Given the description of an element on the screen output the (x, y) to click on. 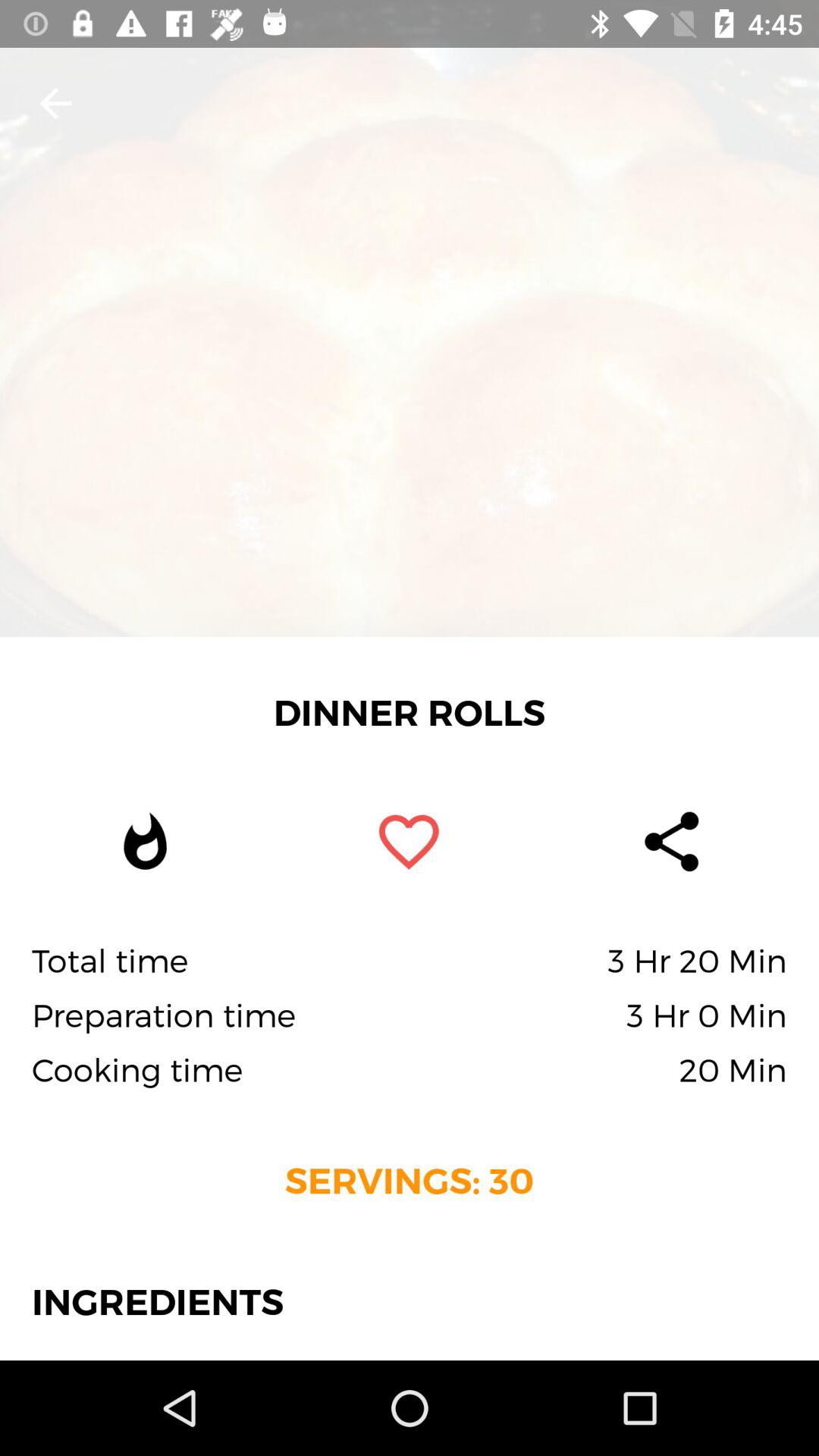
click on the favourites icon (409, 841)
click the share button on the web page (671, 841)
